Given the description of an element on the screen output the (x, y) to click on. 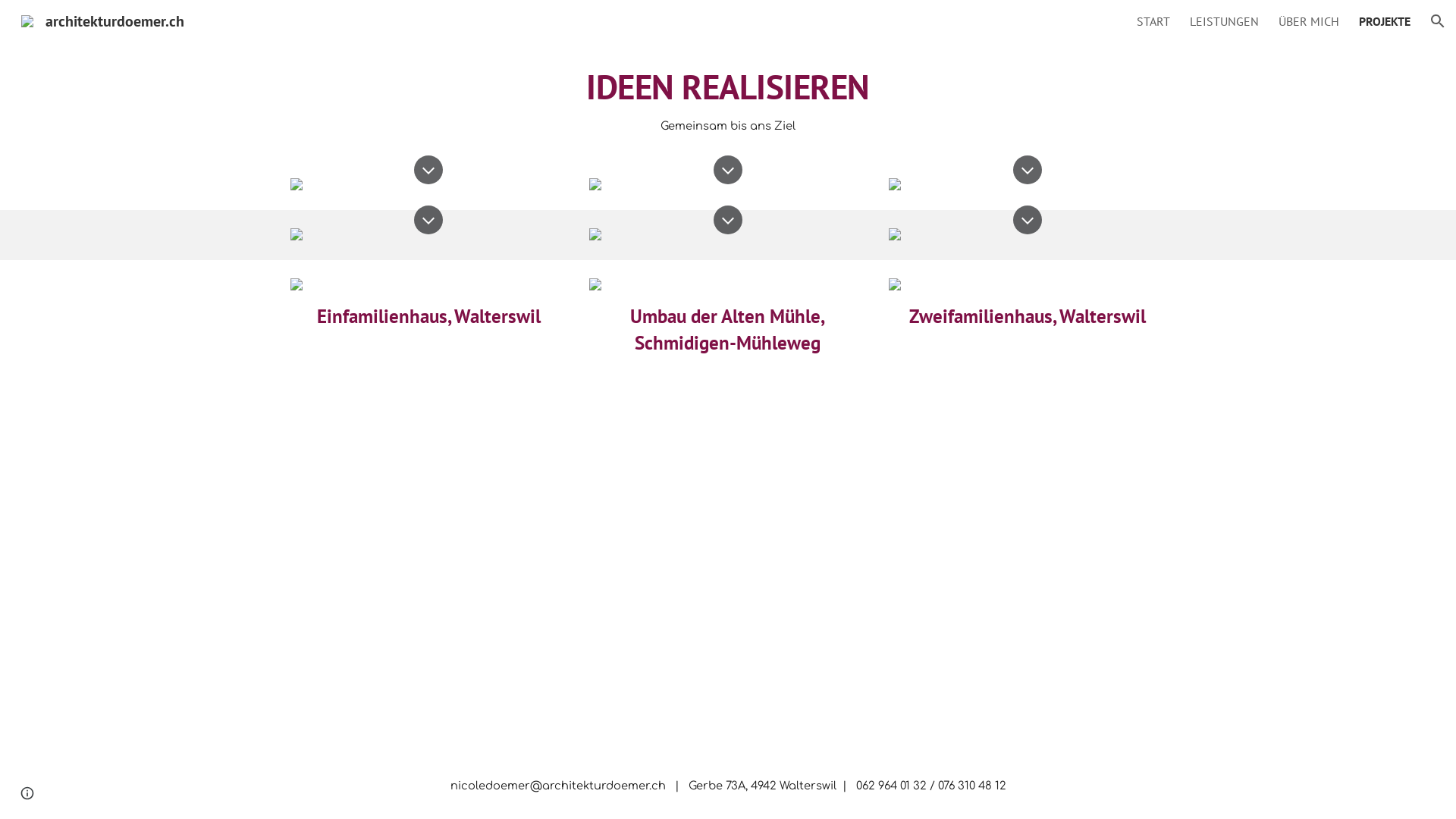
architekturdoemer.ch Element type: text (102, 19)
PROJEKTE Element type: text (1384, 20)
LEISTUNGEN Element type: text (1223, 20)
START Element type: text (1153, 20)
